Given the description of an element on the screen output the (x, y) to click on. 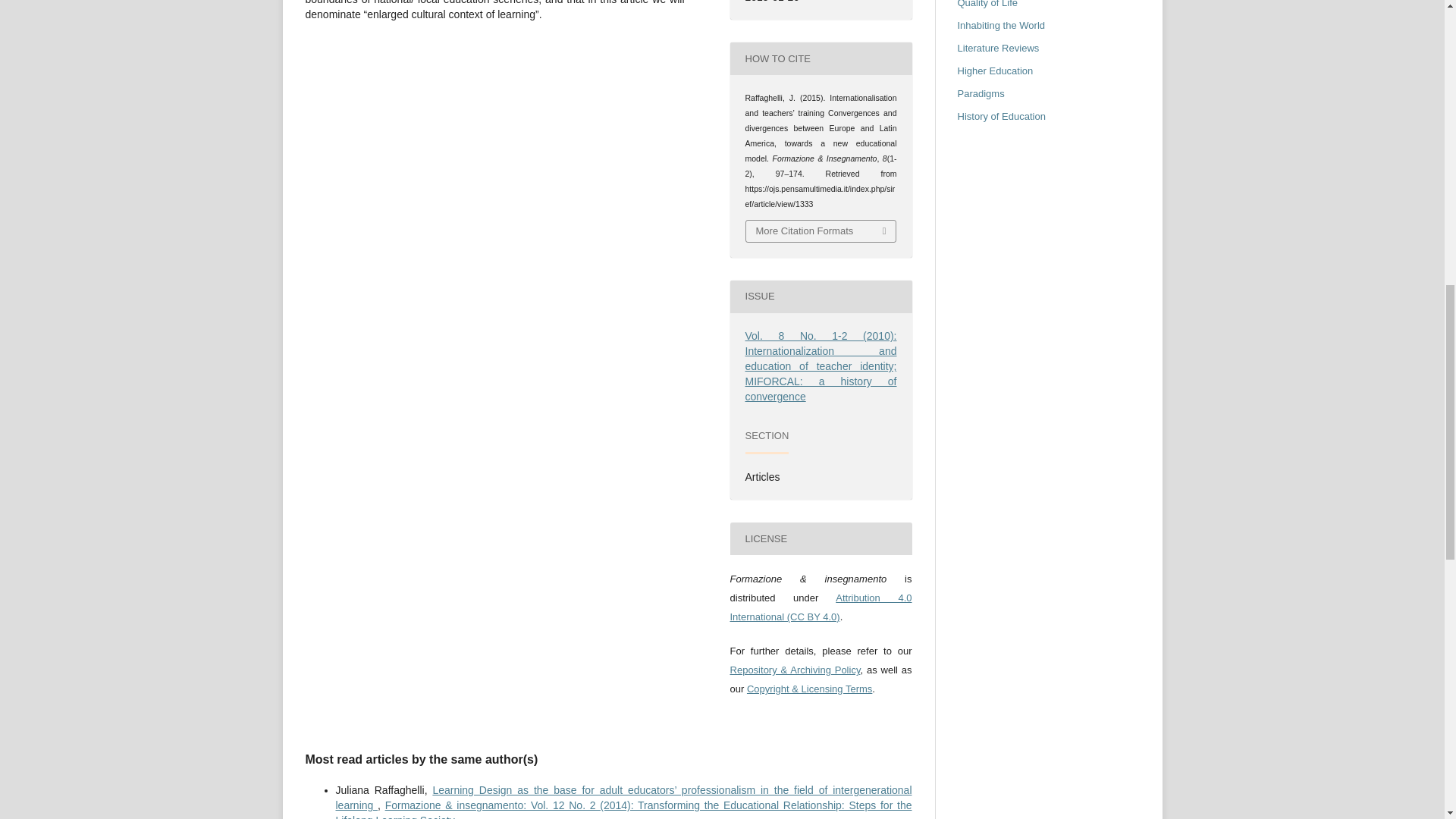
More Citation Formats (820, 230)
